Given the description of an element on the screen output the (x, y) to click on. 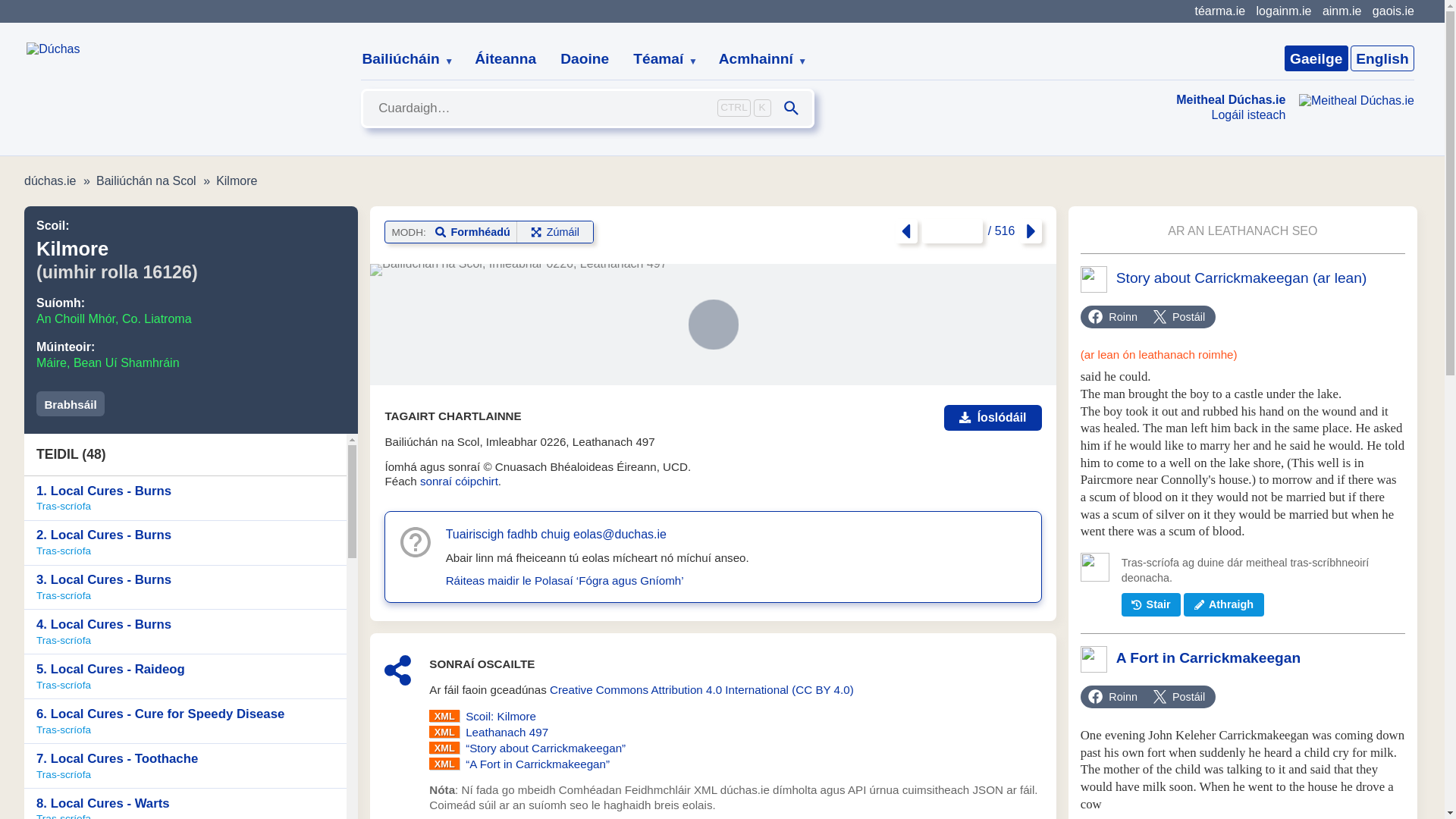
Kilmore (236, 180)
Daoine (584, 58)
logainm.ie (1283, 11)
Gaeilge (1316, 58)
gaois.ie (1393, 11)
ainm.ie (1341, 11)
English (1382, 58)
